Given the description of an element on the screen output the (x, y) to click on. 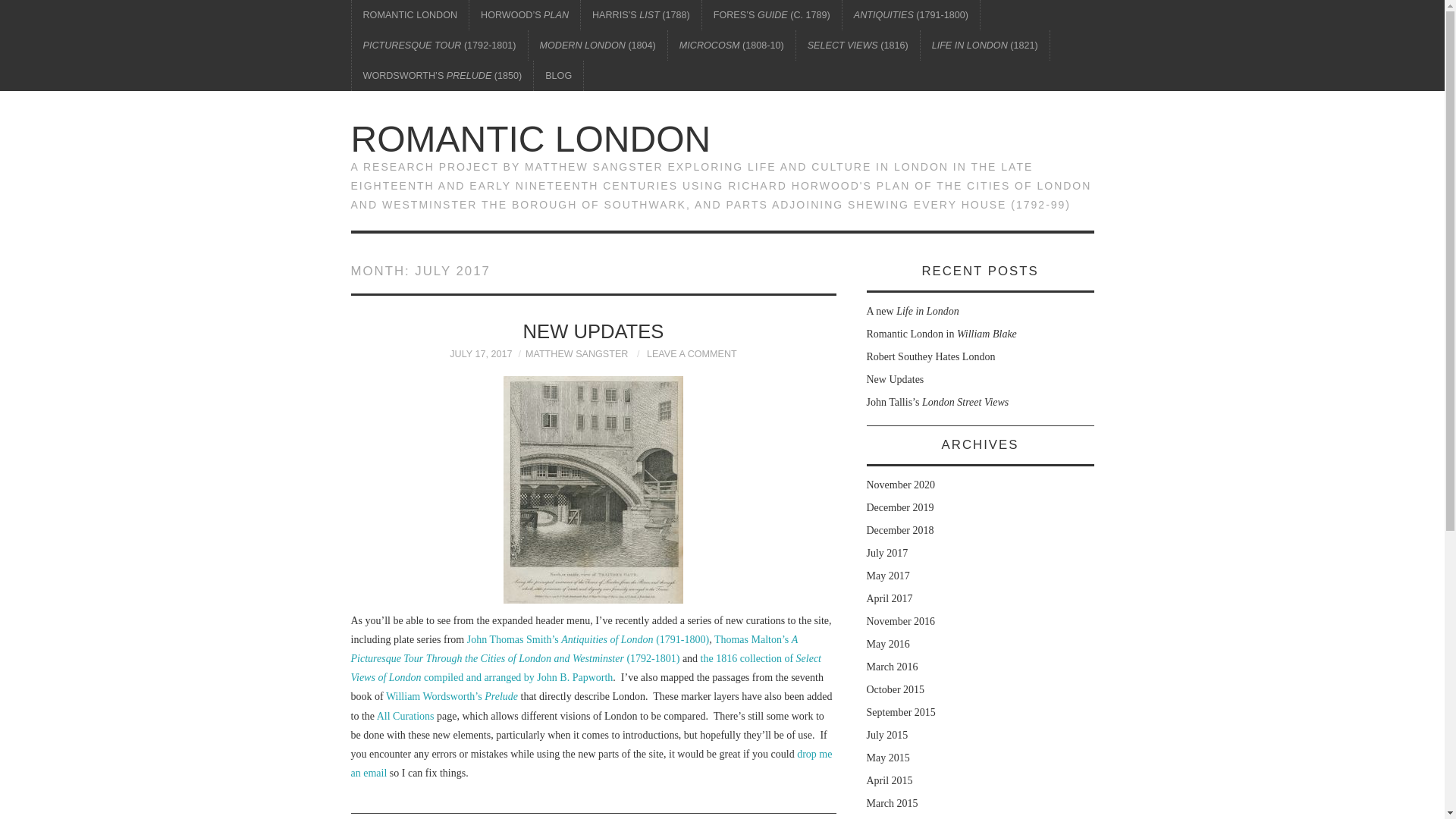
ROMANTIC LONDON (410, 15)
Romantic London (530, 138)
